Given the description of an element on the screen output the (x, y) to click on. 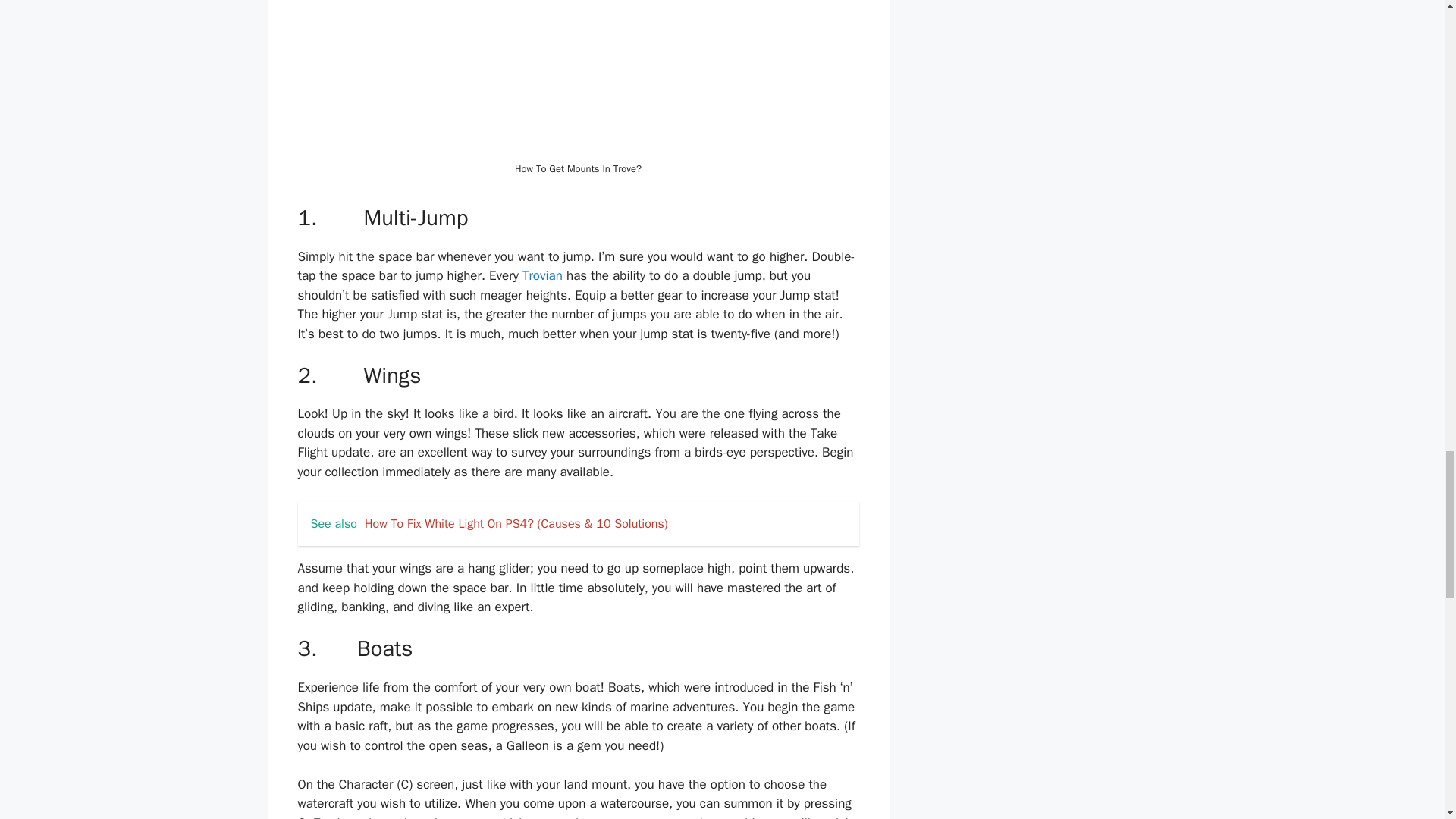
How To Get Mounts In Trove? (578, 78)
